Given the description of an element on the screen output the (x, y) to click on. 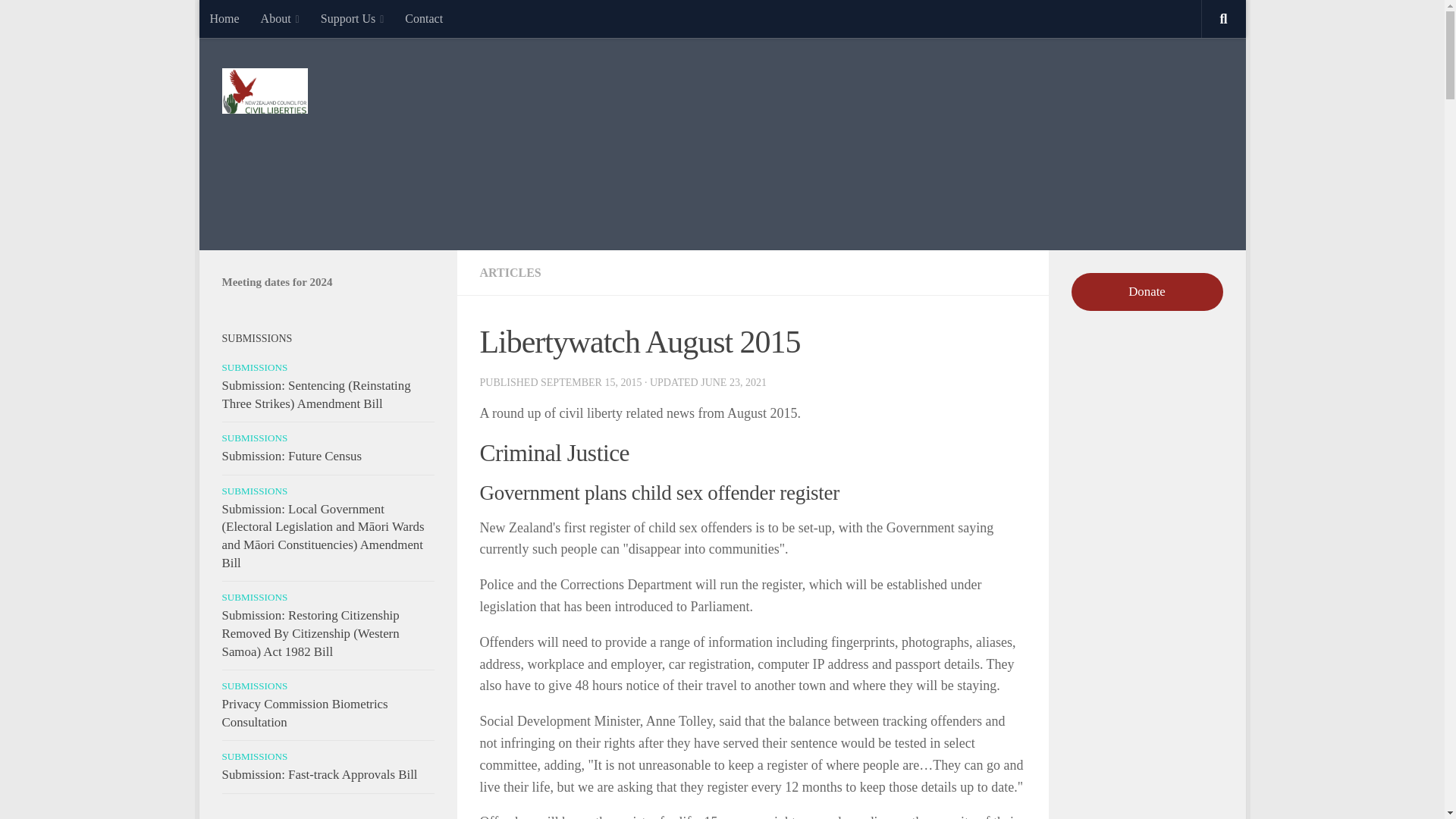
SUBMISSIONS (253, 685)
Home (223, 18)
SUBMISSIONS (253, 596)
Skip to content (258, 20)
About (280, 18)
ARTICLES (509, 272)
Submission: Future Census (291, 455)
SUBMISSIONS (253, 437)
SUBMISSIONS (253, 490)
Support Us (352, 18)
